Given the description of an element on the screen output the (x, y) to click on. 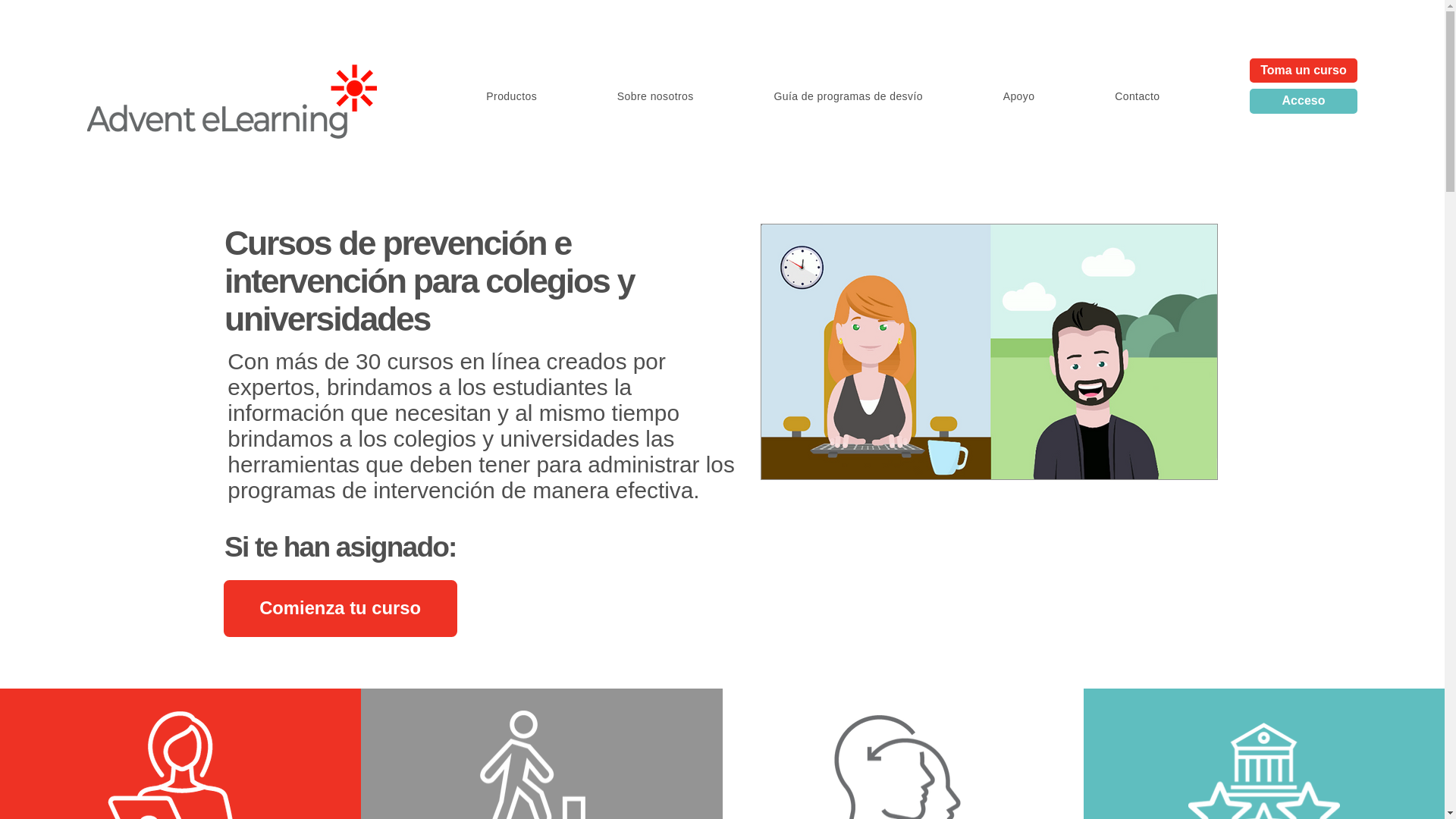
Sobre nosotros (654, 96)
Acceso (1302, 100)
Toma un curso (1302, 70)
Apoyo (1018, 96)
Comienza tu curso (340, 608)
Contacto (1136, 96)
